Given the description of an element on the screen output the (x, y) to click on. 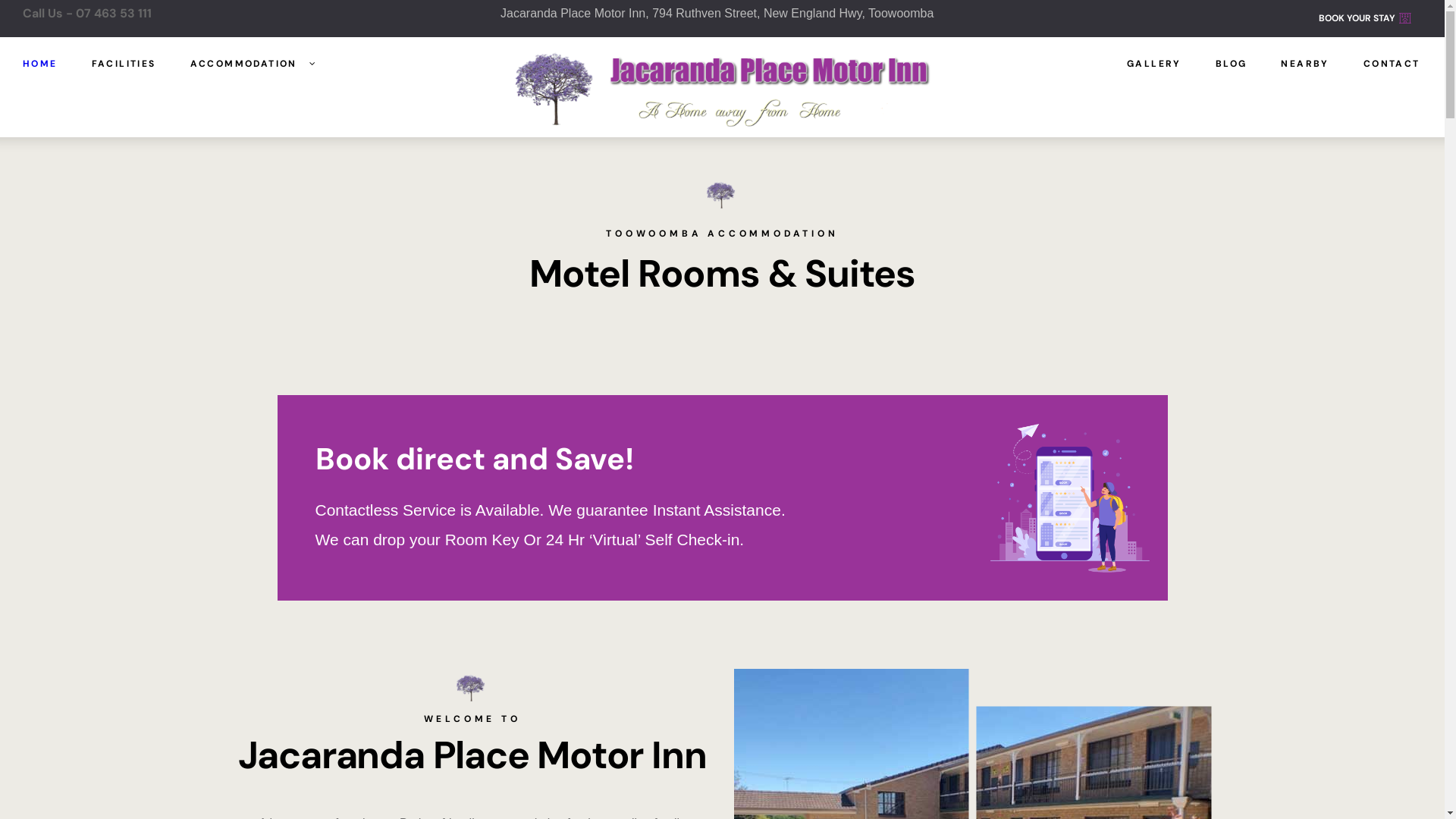
Book direct and Save! Element type: text (474, 458)
BOOK YOUR STAY Element type: text (1364, 18)
BLOG Element type: text (1231, 63)
GALLERY Element type: text (1153, 63)
HOME Element type: text (39, 63)
CONTACT Element type: text (1391, 63)
ACCOMMODATION Element type: text (252, 63)
NEARBY Element type: text (1304, 63)
FACILITIES Element type: text (123, 63)
